Given the description of an element on the screen output the (x, y) to click on. 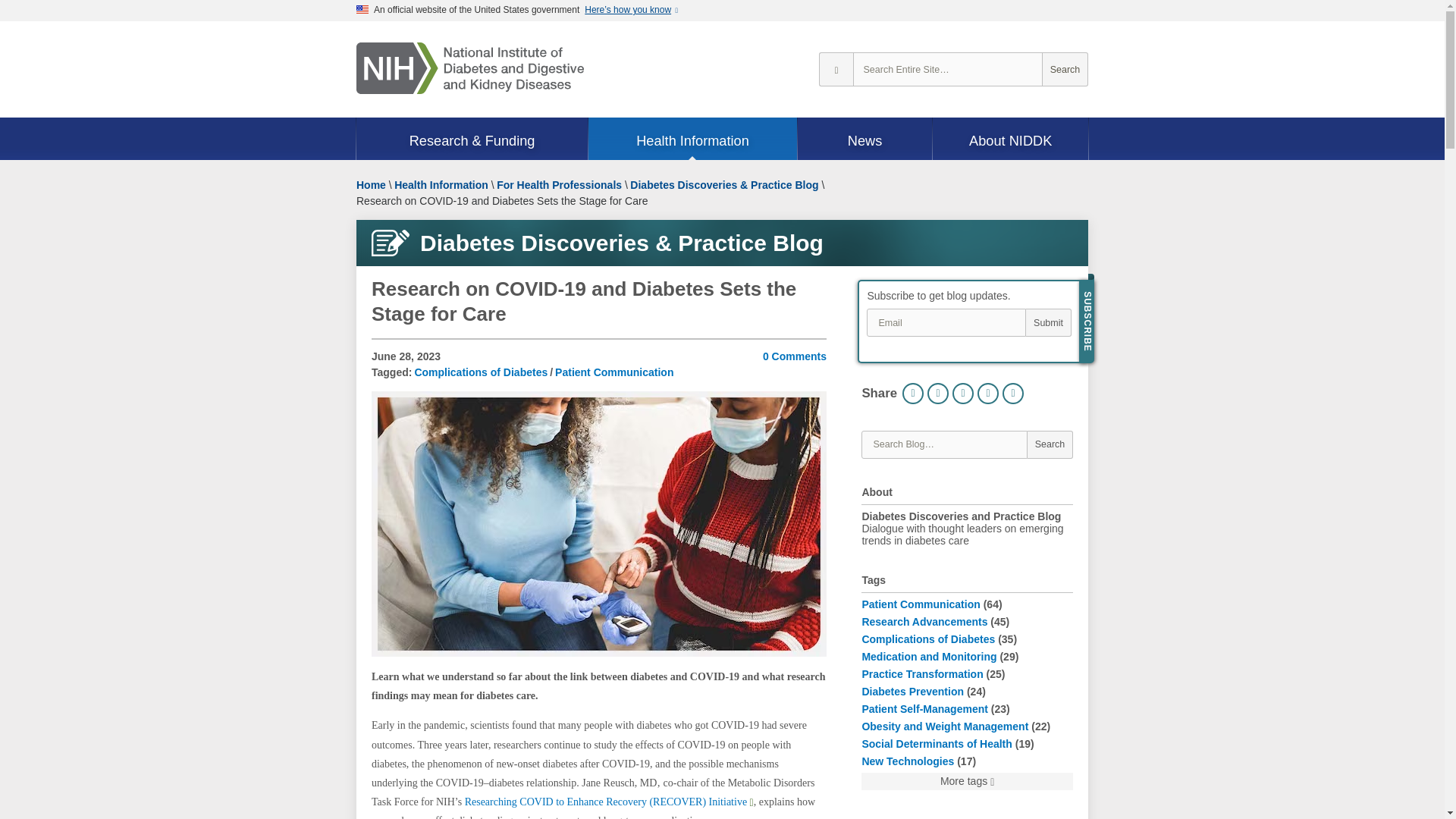
Health Information (692, 139)
News (865, 139)
Change search scope (835, 69)
Search (1064, 69)
Return to the blog home page (721, 243)
Skip to main content (7, 27)
Search Entire Site (1064, 69)
